Given the description of an element on the screen output the (x, y) to click on. 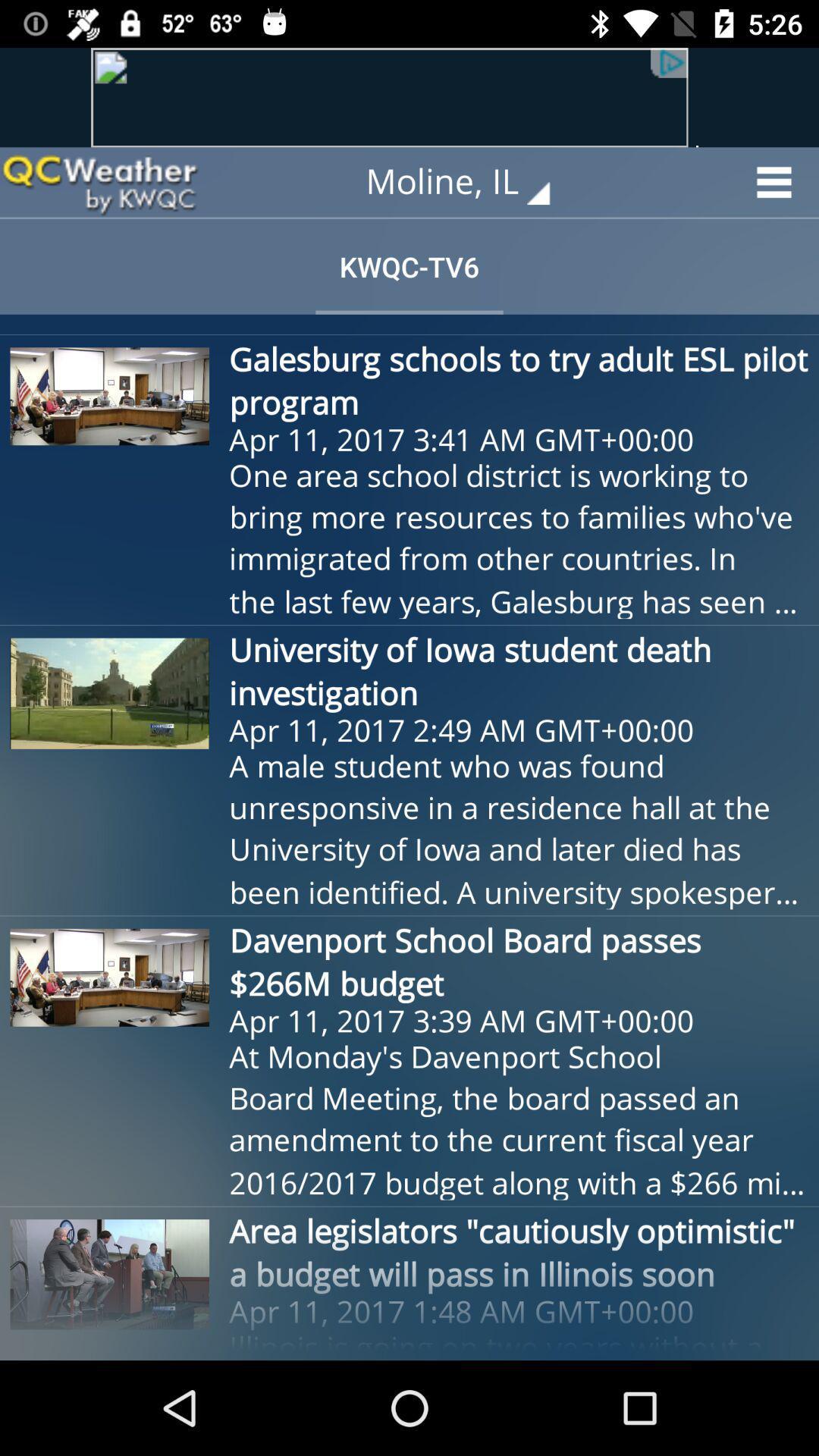
show picture (409, 97)
